Given the description of an element on the screen output the (x, y) to click on. 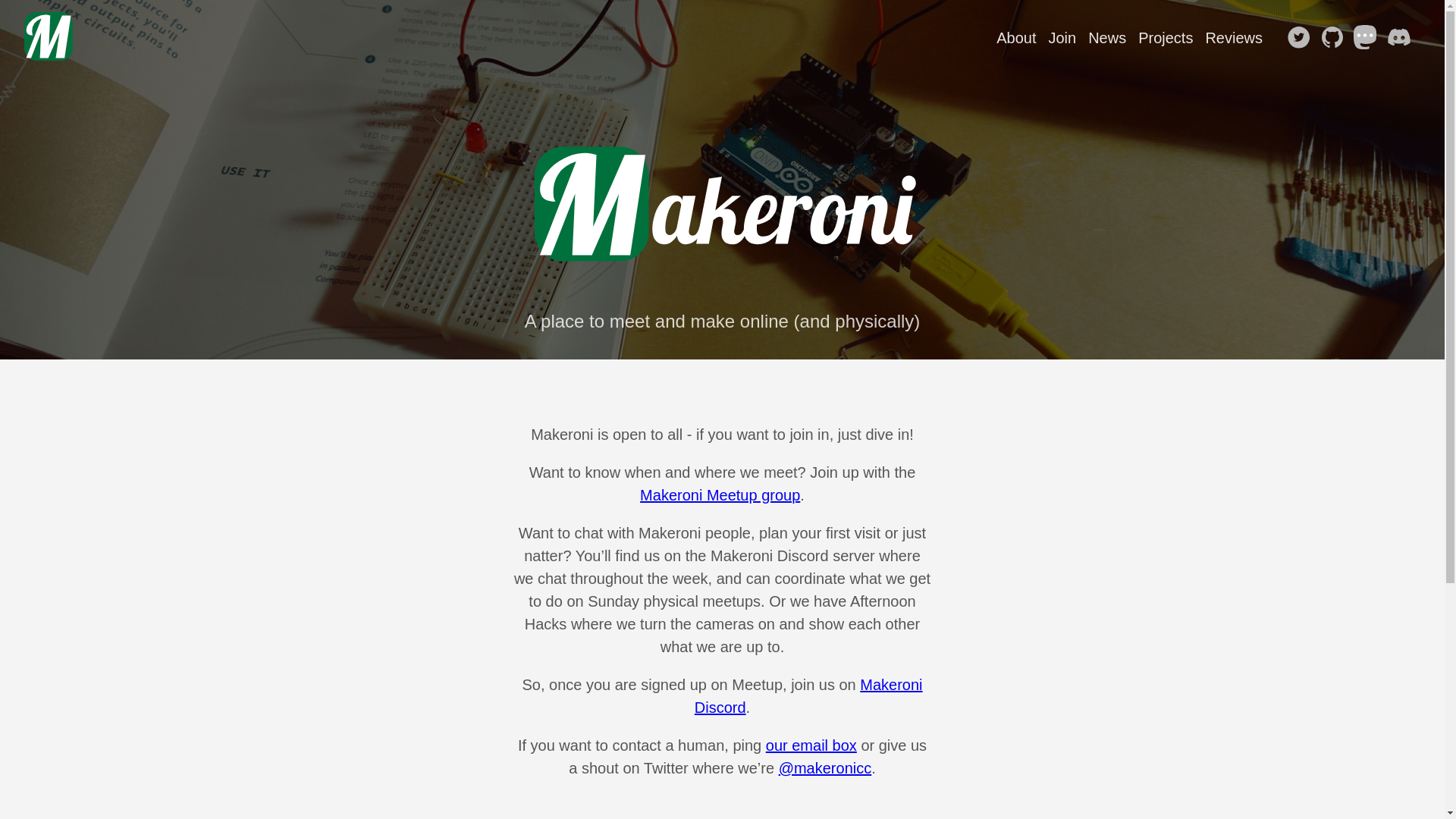
Join Element type: text (1062, 37)
Makeroni Discord Element type: text (808, 695)
News Element type: text (1107, 37)
Twitter link Element type: hover (1301, 38)
our email box Element type: text (810, 745)
Makeroni Meetup group Element type: text (720, 494)
Mastodon link Element type: hover (1368, 38)
Projects Element type: text (1165, 37)
GitHub link Element type: hover (1335, 38)
About Element type: text (1015, 37)
discord link Element type: hover (1401, 38)
@makeronicc Element type: text (825, 767)
Reviews Element type: text (1233, 37)
